Given the description of an element on the screen output the (x, y) to click on. 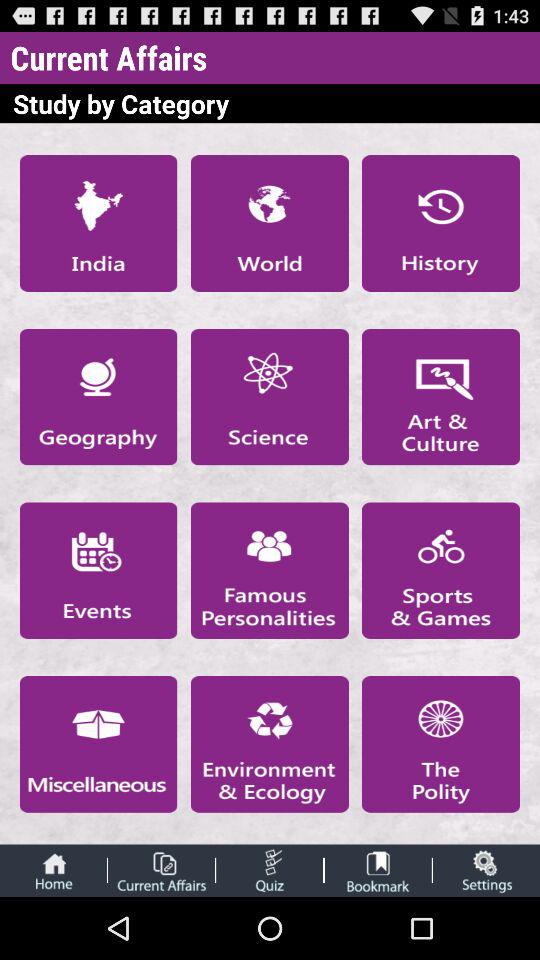
go to geography (98, 396)
